Given the description of an element on the screen output the (x, y) to click on. 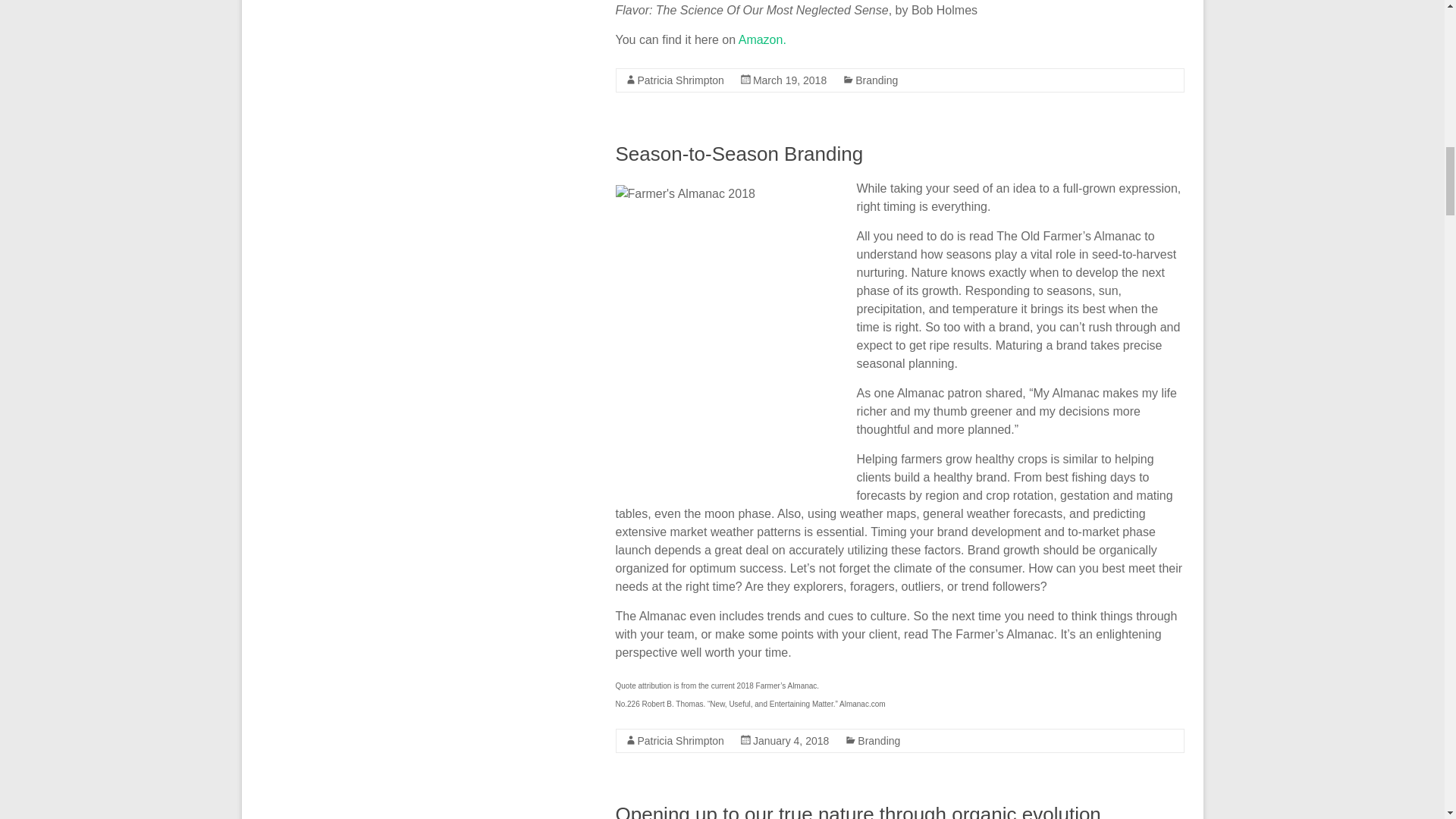
2:30 pm (789, 80)
Opening up to our true nature through organic evolution (857, 811)
Season-to-Season Branding (739, 153)
2:25 pm (790, 740)
